Given the description of an element on the screen output the (x, y) to click on. 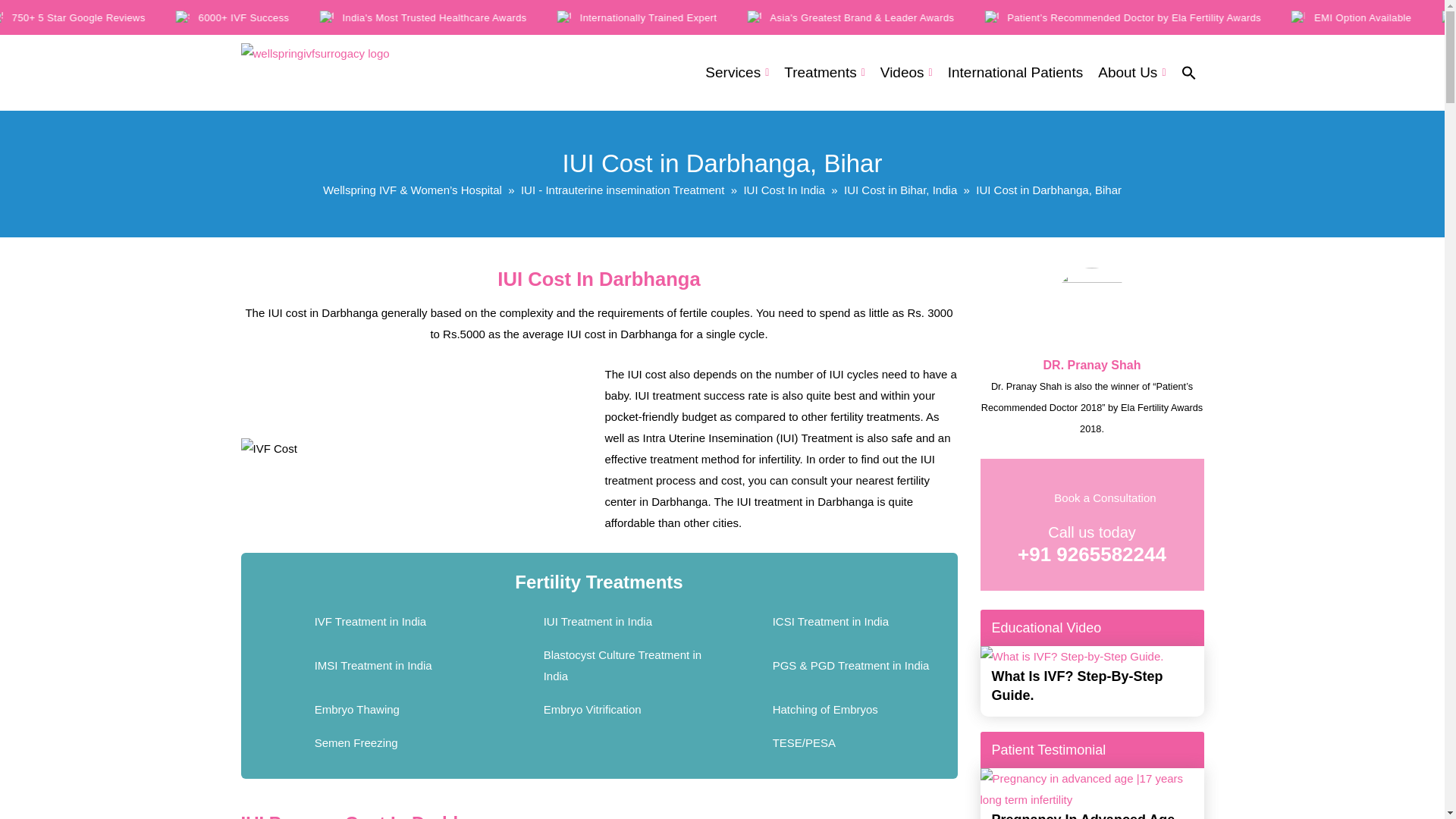
IUI Cost In India (783, 189)
IUI Cost in Bihar, India (900, 189)
IUI - Intrauterine insemination Treatment (622, 189)
